Given the description of an element on the screen output the (x, y) to click on. 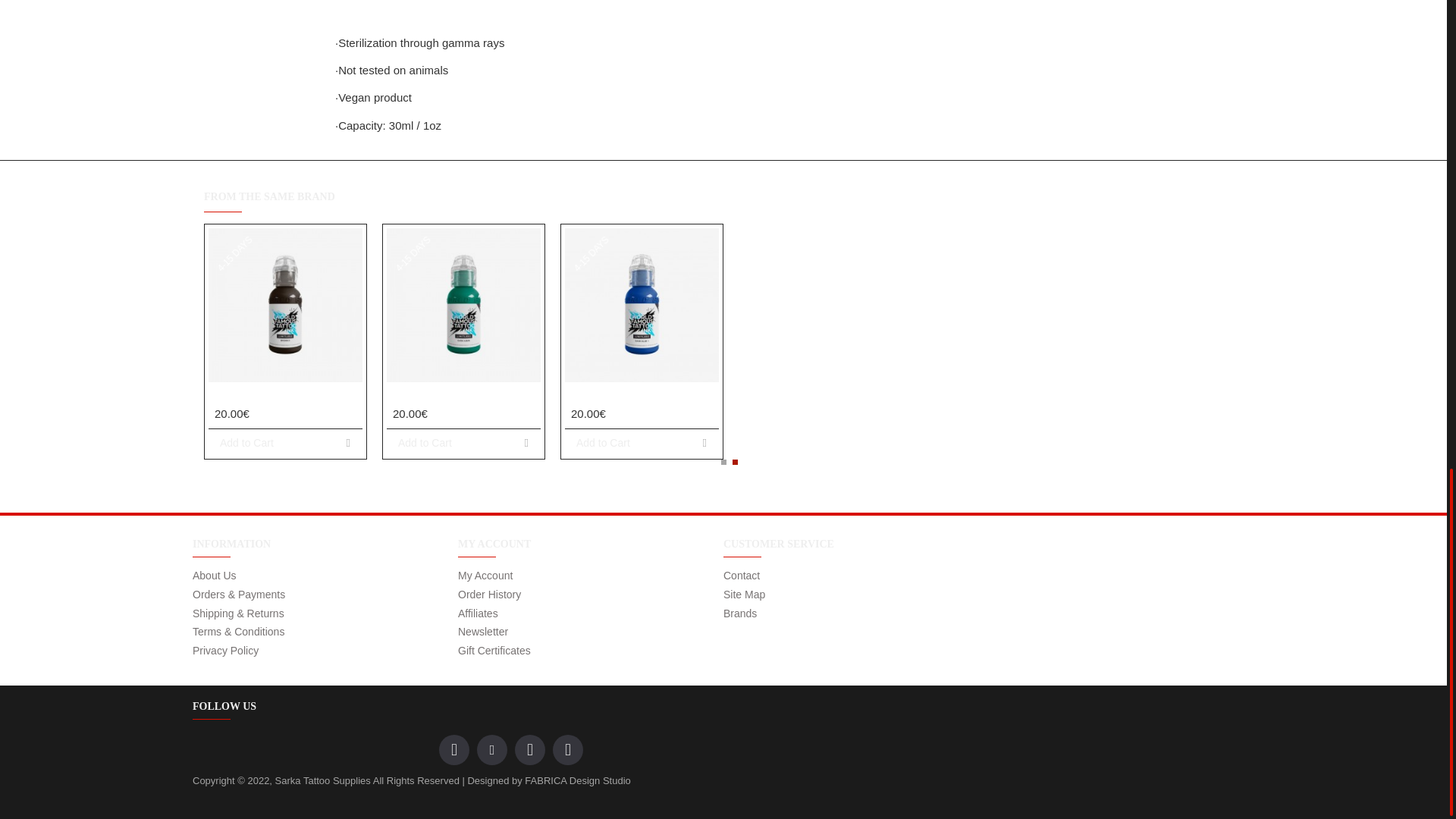
World Famous Limitless Dark Blue 1 (641, 305)
World Famous Limitless Brown 3 (285, 305)
World Famous Limitless Dark Aqua 1 (463, 305)
